Given the description of an element on the screen output the (x, y) to click on. 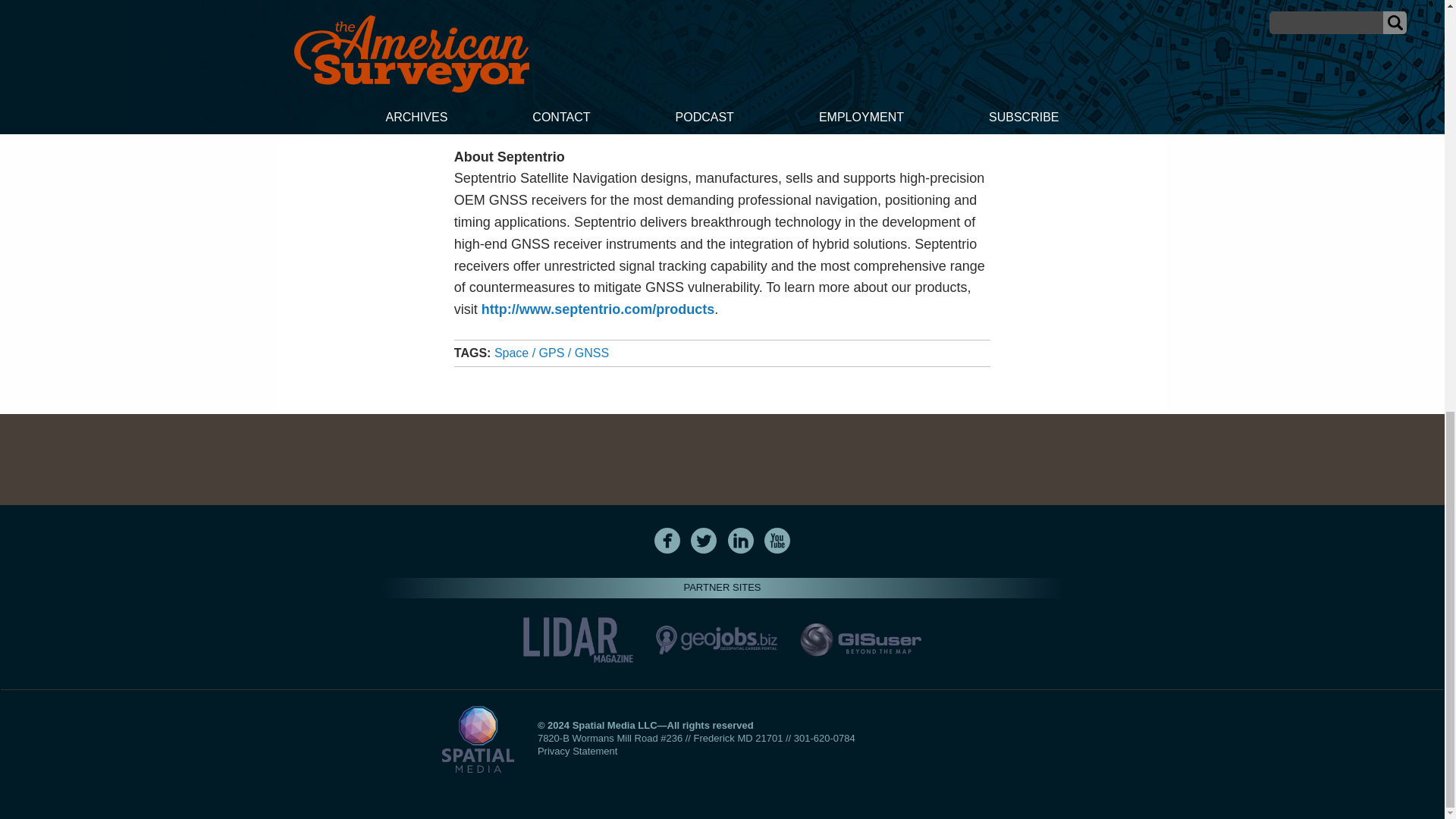
icon-sm-twitter (703, 540)
icon-sm-linkedin (741, 540)
icon-sm-youtube (777, 540)
icon-sm-youtube (776, 540)
icon-sm-linkedin (740, 540)
icon-sm-fb (666, 540)
icon-sm-twitter (703, 540)
3rd party ad content (721, 459)
Privacy Statement (577, 750)
icon-sm-fb (667, 540)
